Given the description of an element on the screen output the (x, y) to click on. 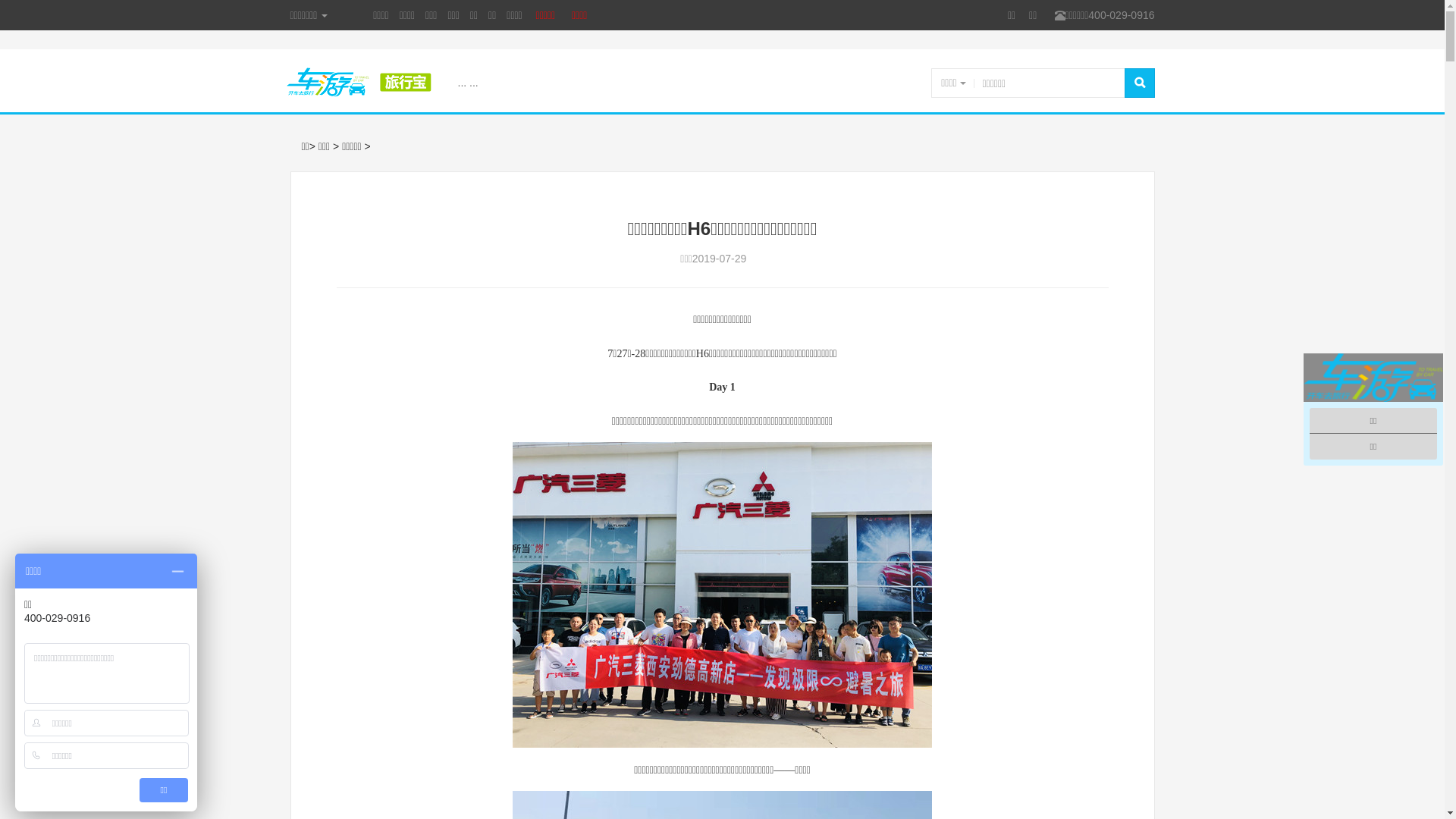
1564369330981738.jpg Element type: hover (721, 594)
